Given the description of an element on the screen output the (x, y) to click on. 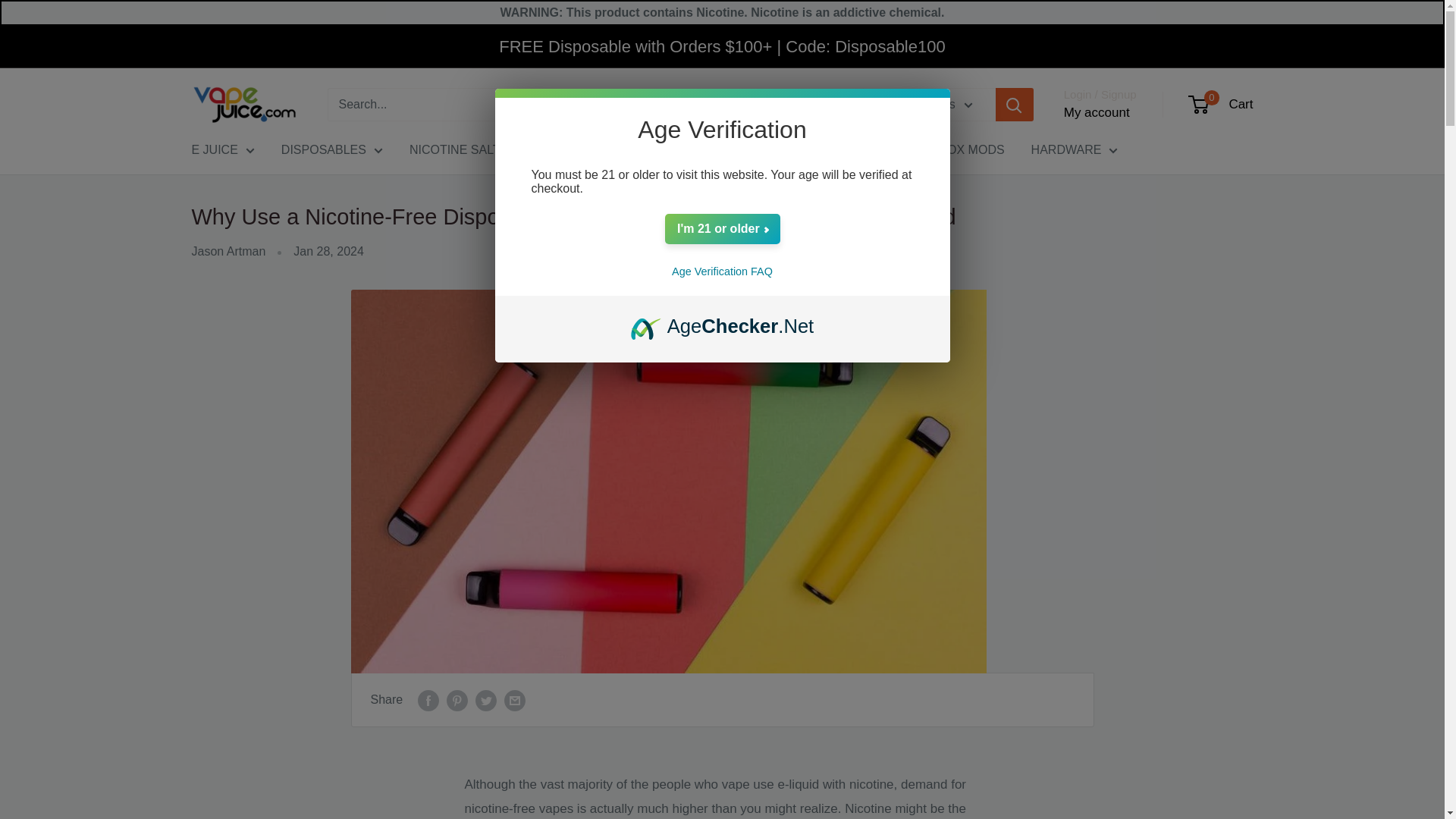
Opens a widget where you can find more information (1401, 769)
